Given the description of an element on the screen output the (x, y) to click on. 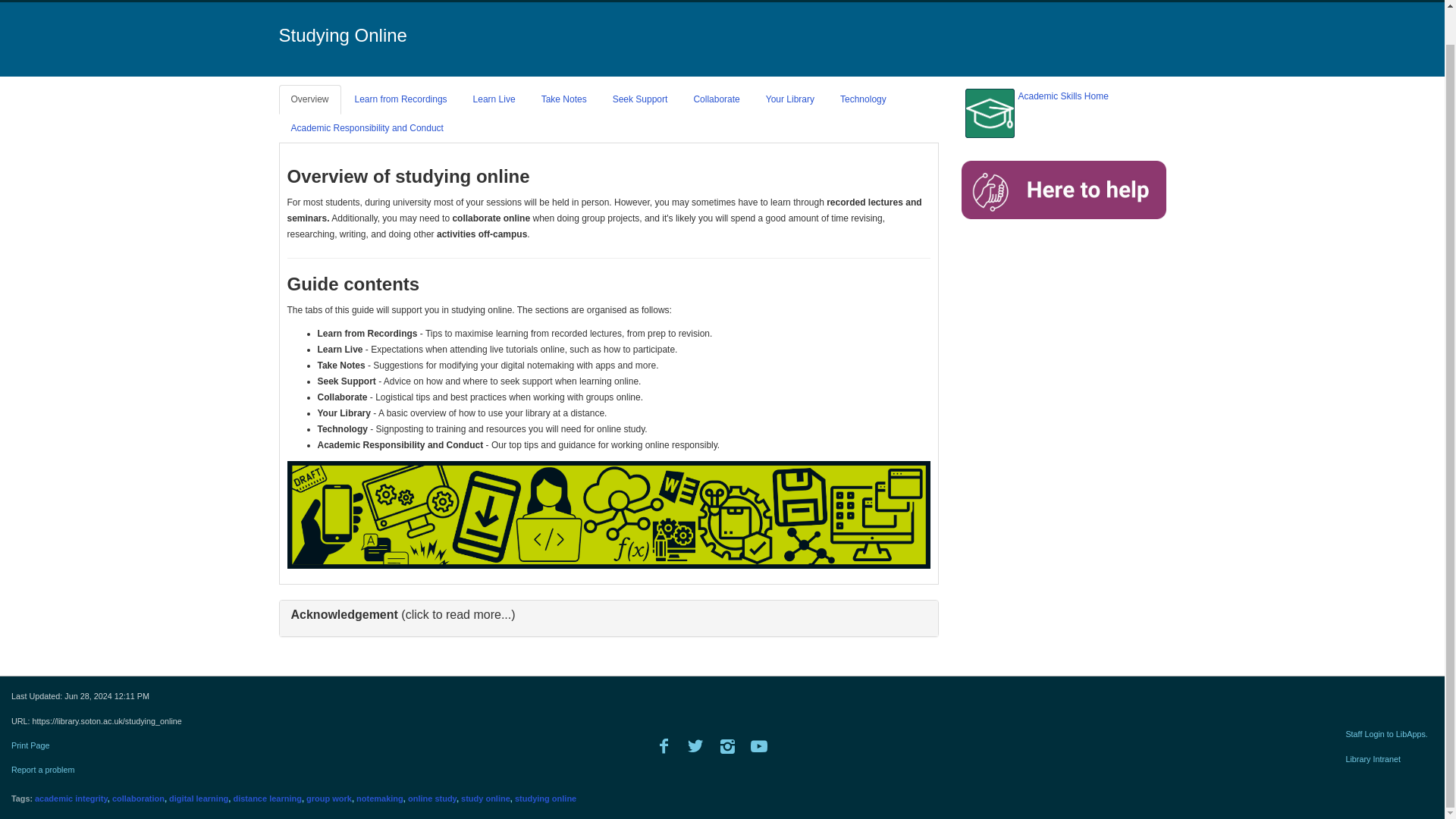
Library Home (809, 1)
Research Services (1073, 1)
Academic Skills (976, 1)
Resources (1162, 1)
Subject Guides (890, 1)
Library Intranet: Staff Only (1380, 758)
